Given the description of an element on the screen output the (x, y) to click on. 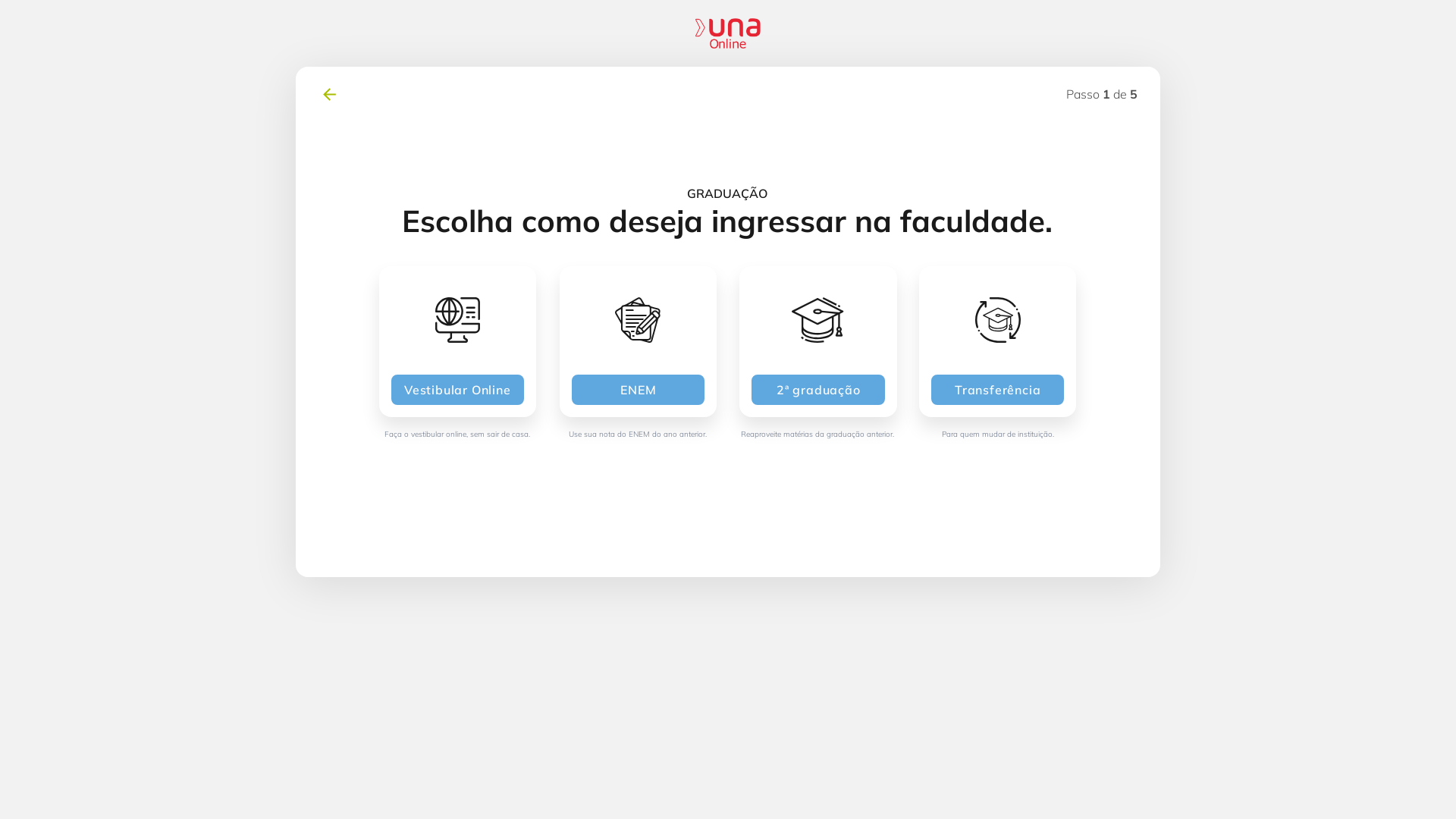
Vestibular Online Element type: text (457, 389)
voltar Element type: hover (329, 93)
ENEM Element type: text (637, 389)
